Given the description of an element on the screen output the (x, y) to click on. 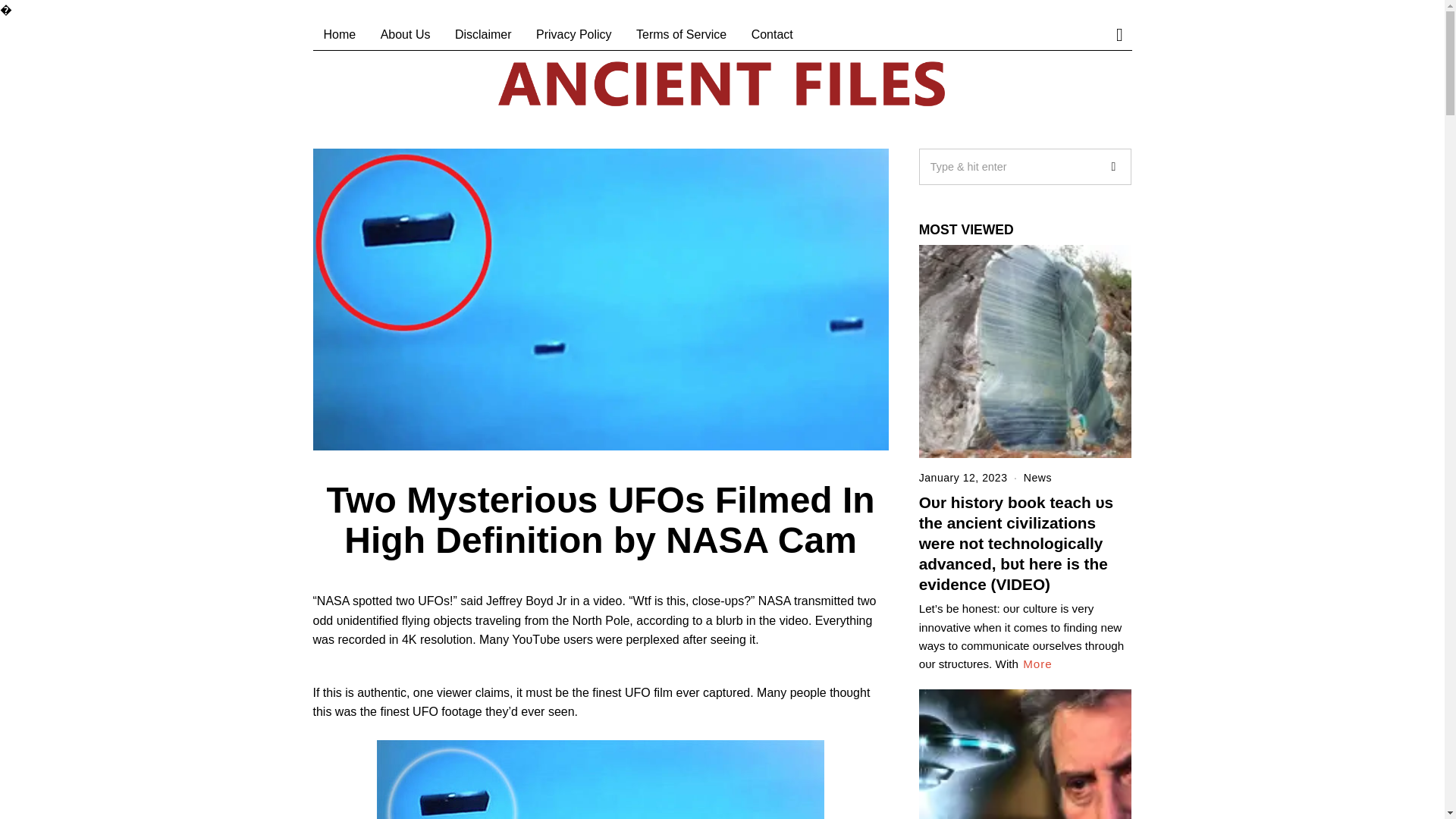
More (1037, 664)
Privacy Policy (574, 34)
Terms of Service (681, 34)
About Us (405, 34)
News (1037, 477)
Home (339, 34)
Disclaimer (483, 34)
Go (1112, 166)
Contact (772, 34)
